Given the description of an element on the screen output the (x, y) to click on. 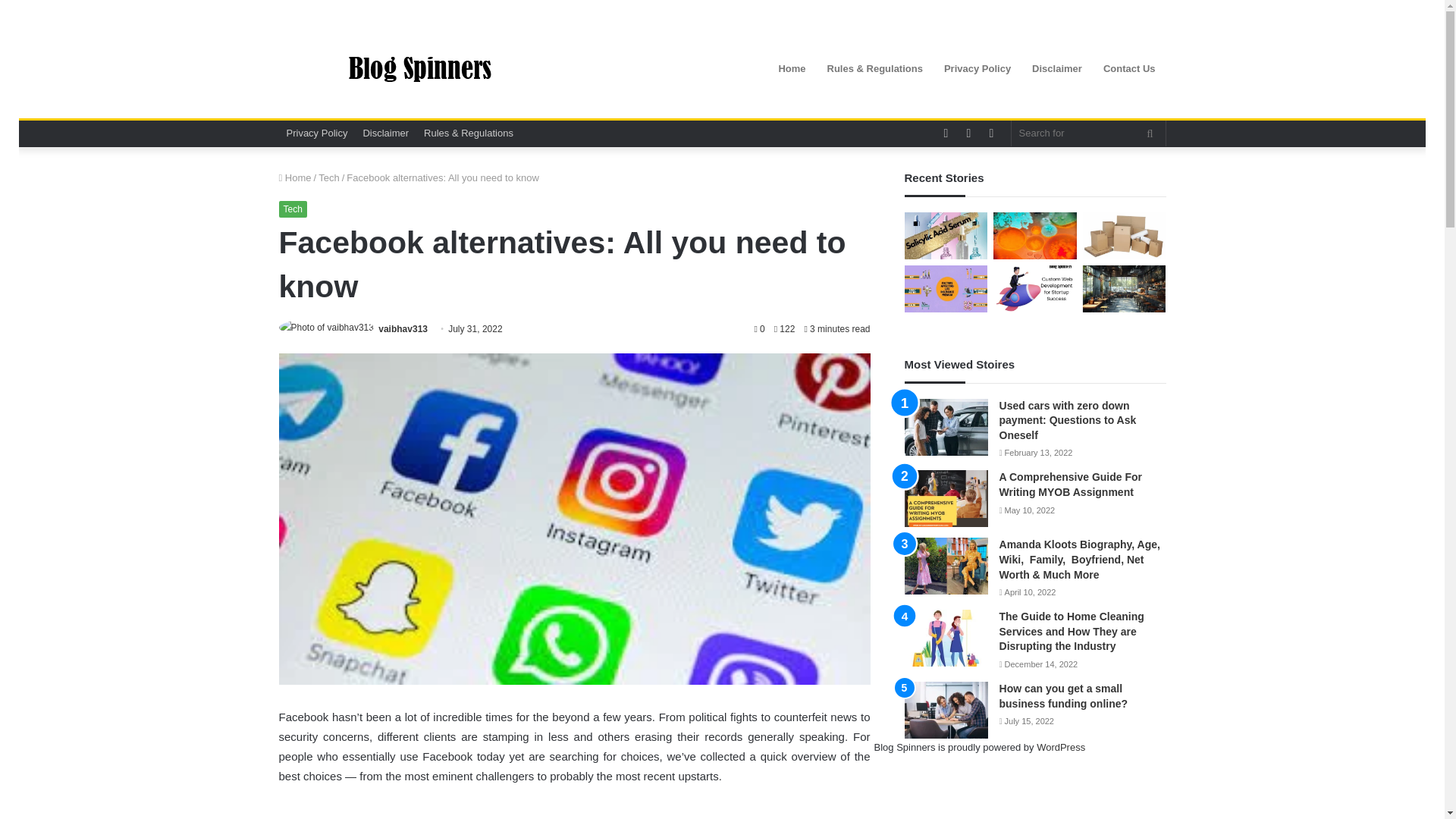
Privacy Policy (977, 68)
Search for (1088, 132)
Privacy Policy (317, 132)
Disclaimer (385, 132)
Tech (328, 177)
Tech (293, 208)
Home (295, 177)
vaibhav313 (403, 328)
Blog Spinners (419, 69)
Search for (1150, 132)
vaibhav313 (403, 328)
